Given the description of an element on the screen output the (x, y) to click on. 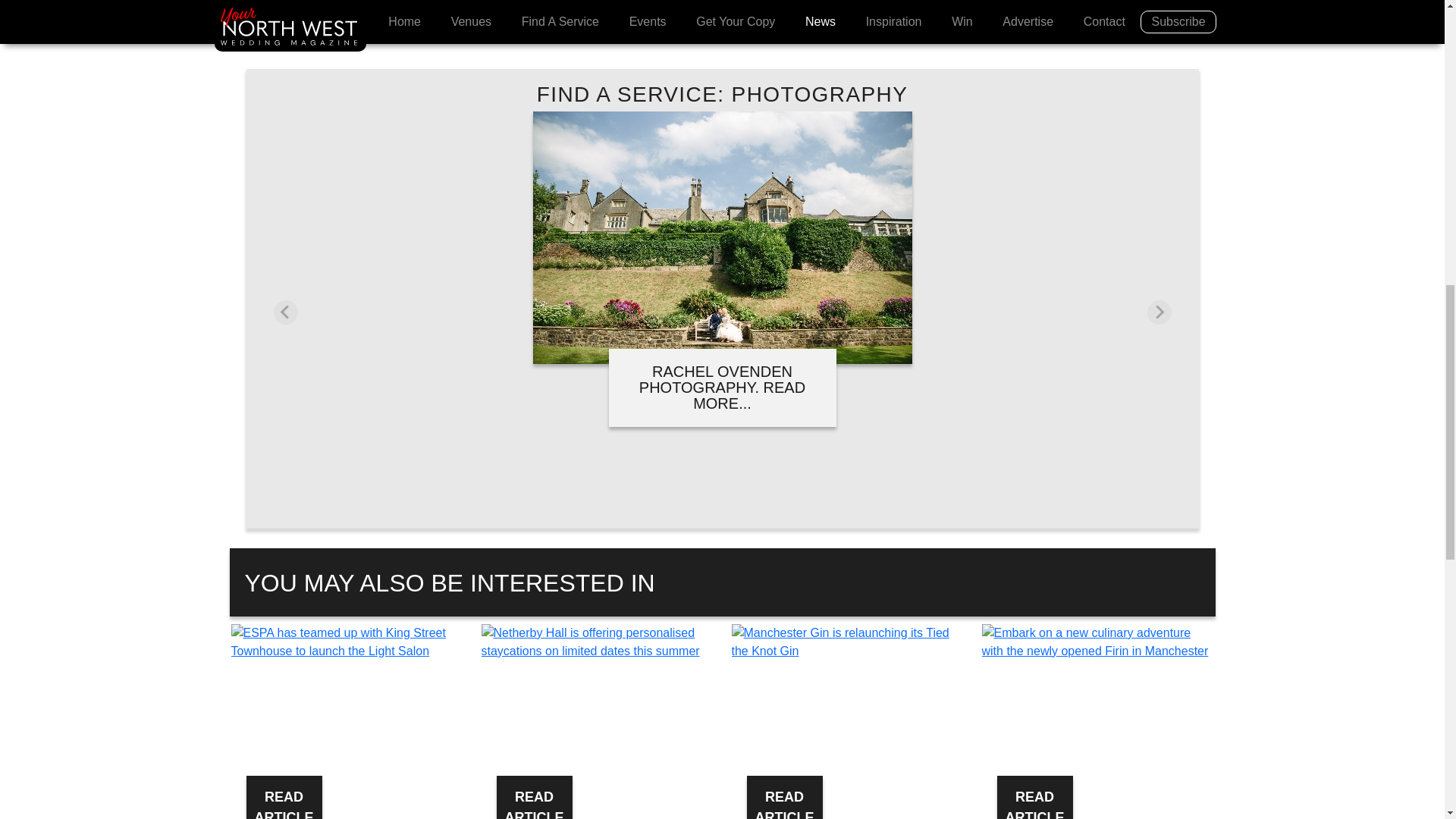
BACK TO PREVIOUS PAGE (327, 2)
Back to previous page (327, 2)
RACHEL OVENDEN PHOTOGRAPHY. READ MORE... (722, 387)
Product by Rachel Ovenden Photography (721, 354)
FIND A SERVICE: PHOTOGRAPHY (722, 94)
